Given the description of an element on the screen output the (x, y) to click on. 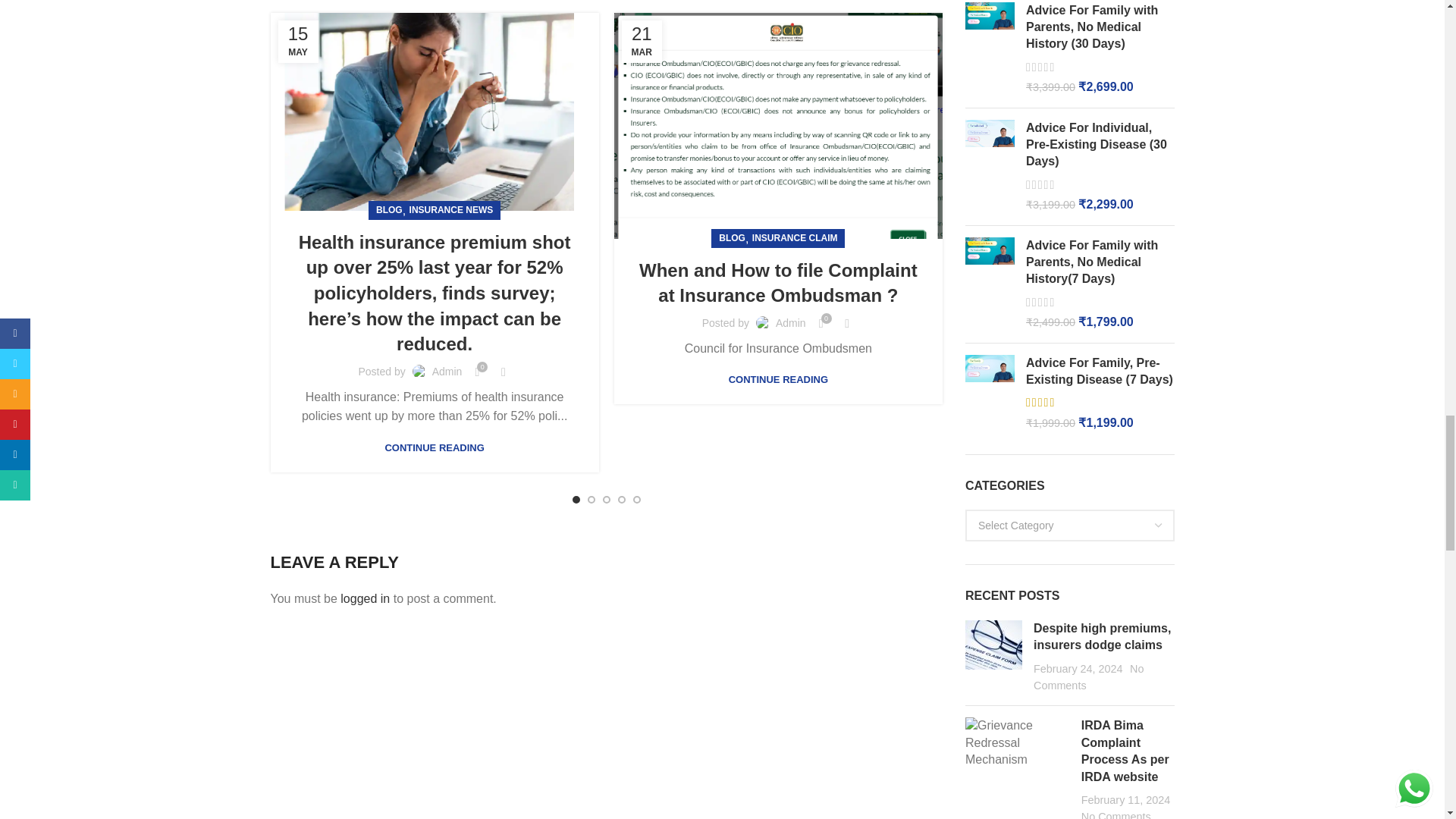
INSURANCE NEWS (451, 210)
BLOG (389, 210)
Admin (447, 371)
